Given the description of an element on the screen output the (x, y) to click on. 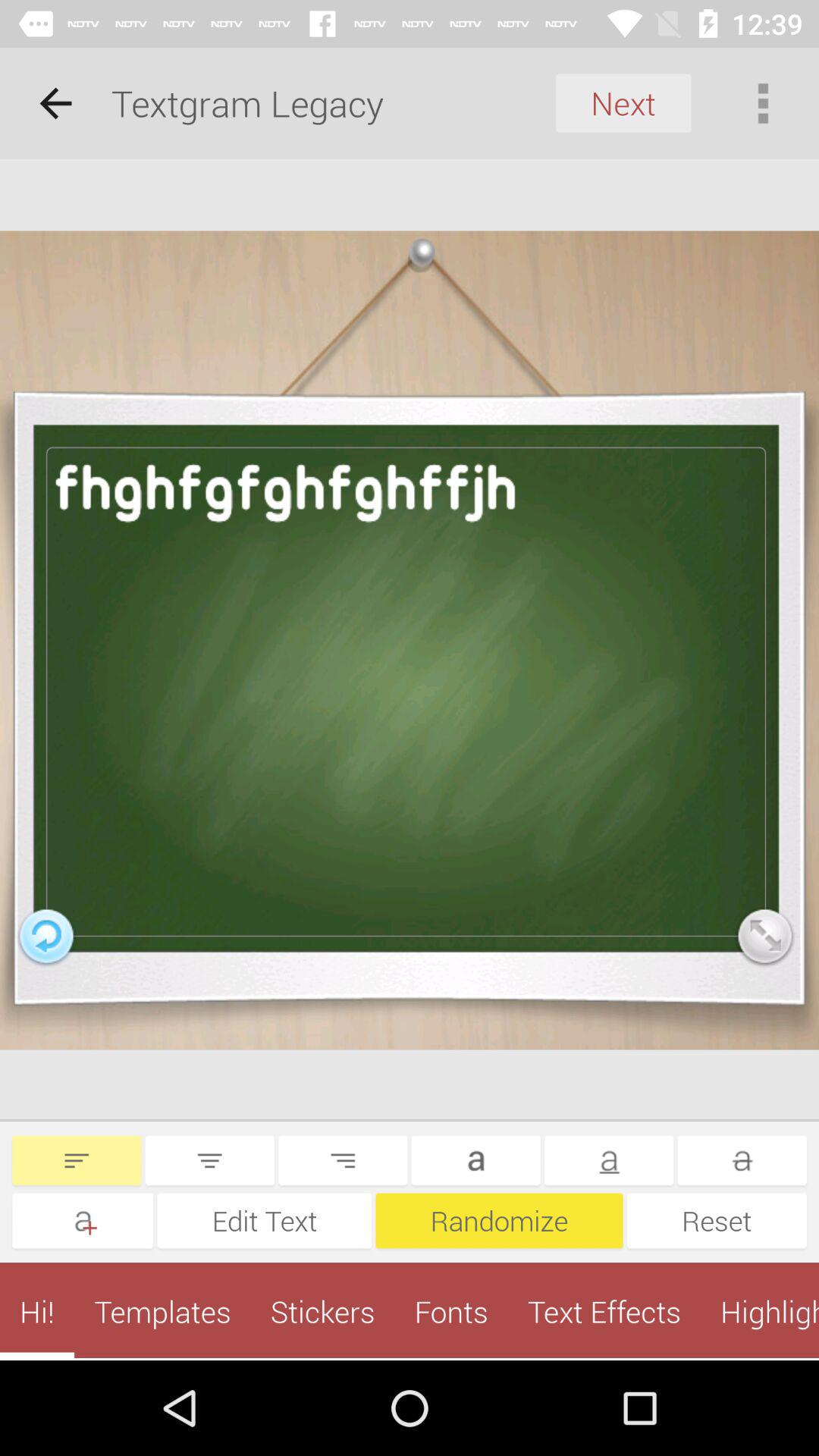
change indentation (76, 1160)
